Given the description of an element on the screen output the (x, y) to click on. 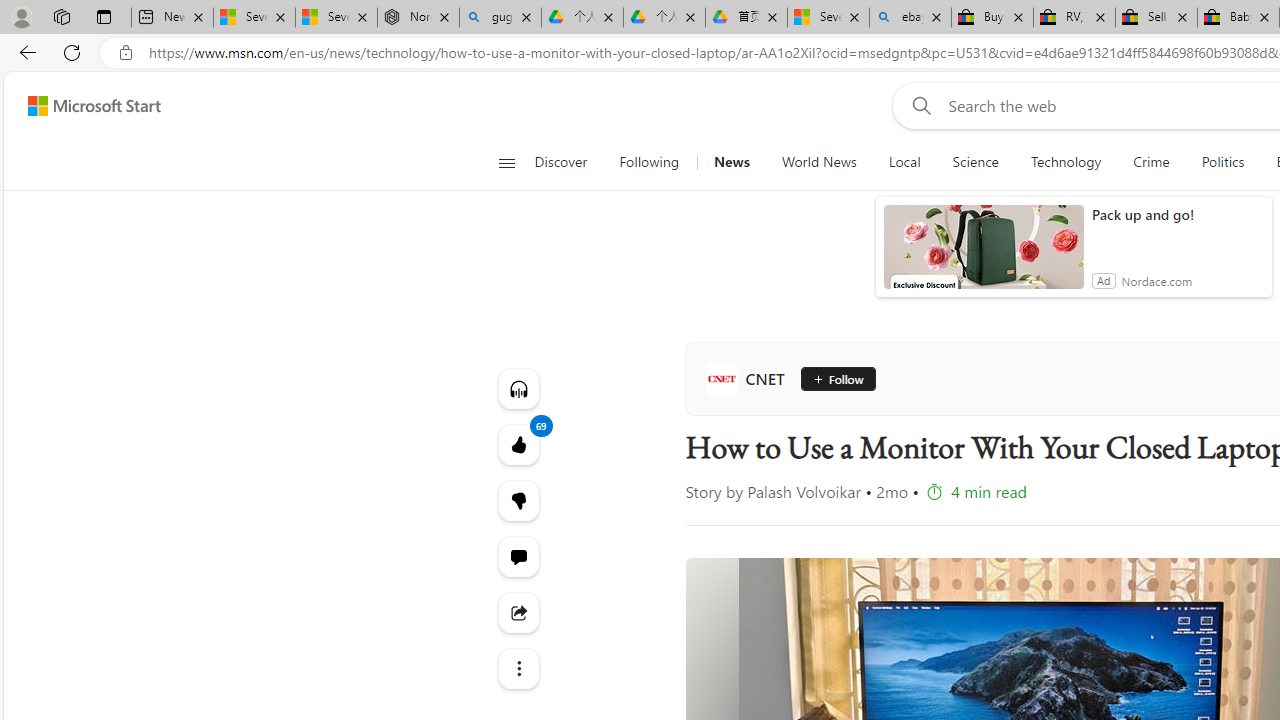
World News (818, 162)
Skip to footer (82, 105)
Local (903, 162)
Technology (1066, 162)
Pack up and go! (1177, 214)
69 Like (517, 444)
